Given the description of an element on the screen output the (x, y) to click on. 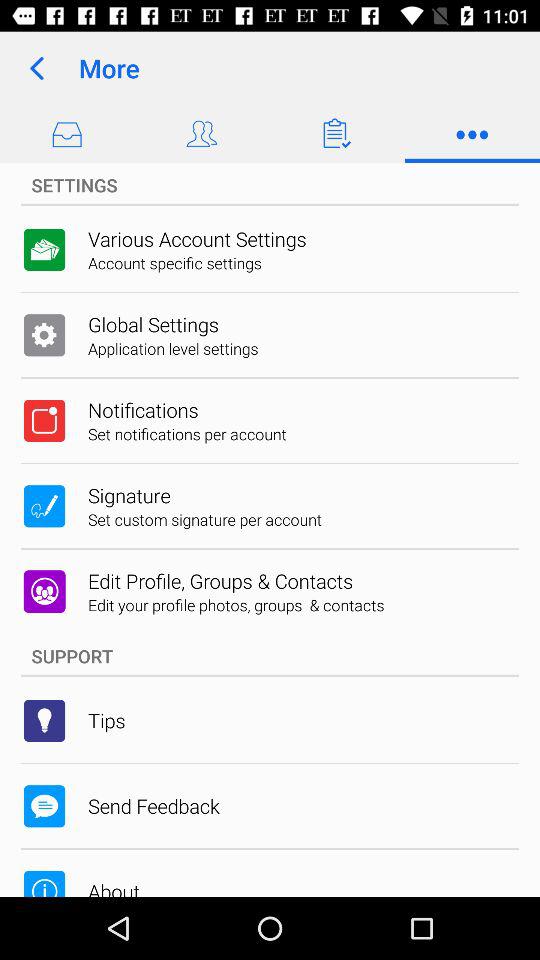
press application level settings (173, 348)
